Given the description of an element on the screen output the (x, y) to click on. 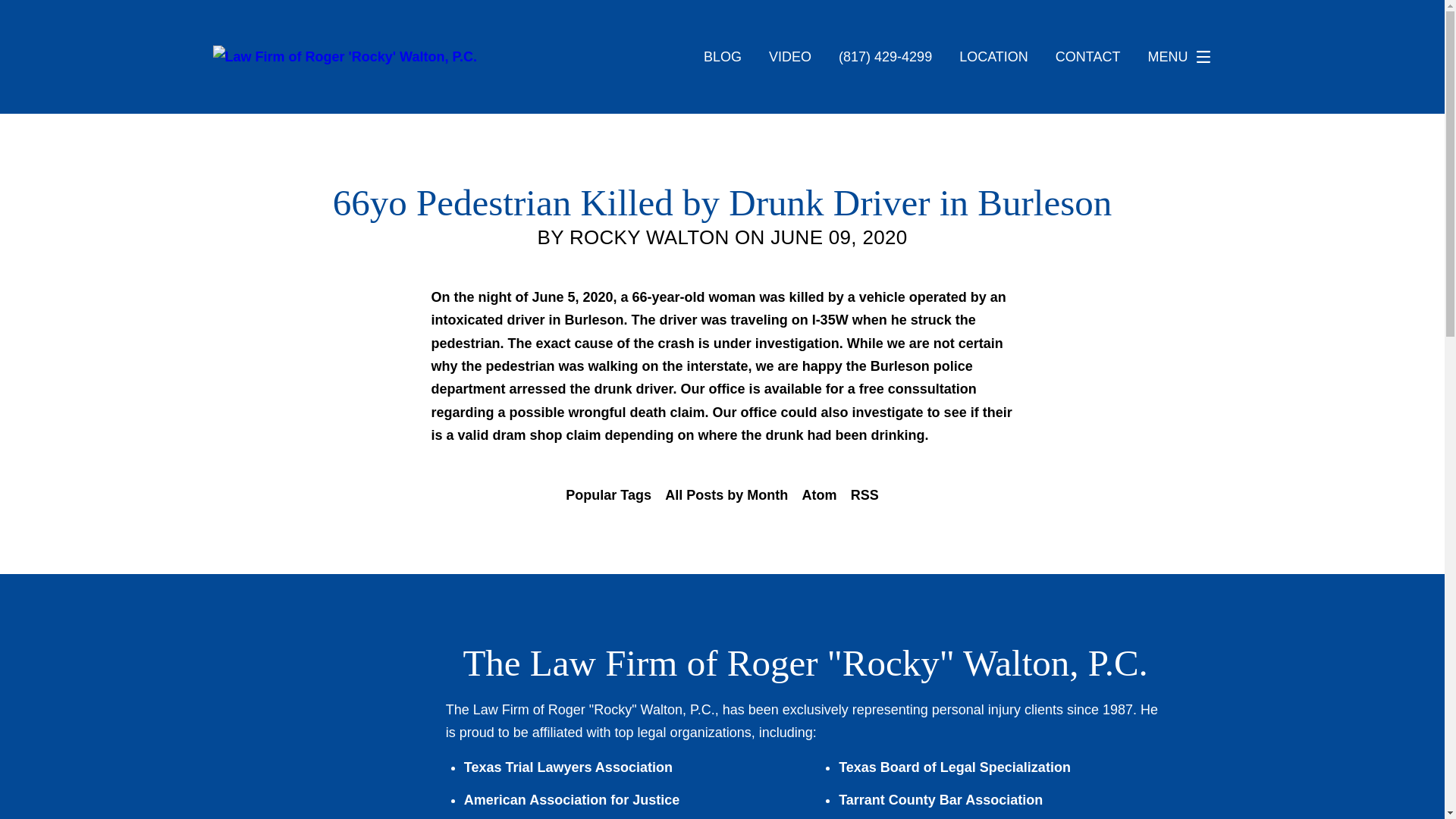
Popular Tags (608, 495)
RSS (864, 495)
Atom (818, 495)
All Posts by Month (726, 495)
